Given the description of an element on the screen output the (x, y) to click on. 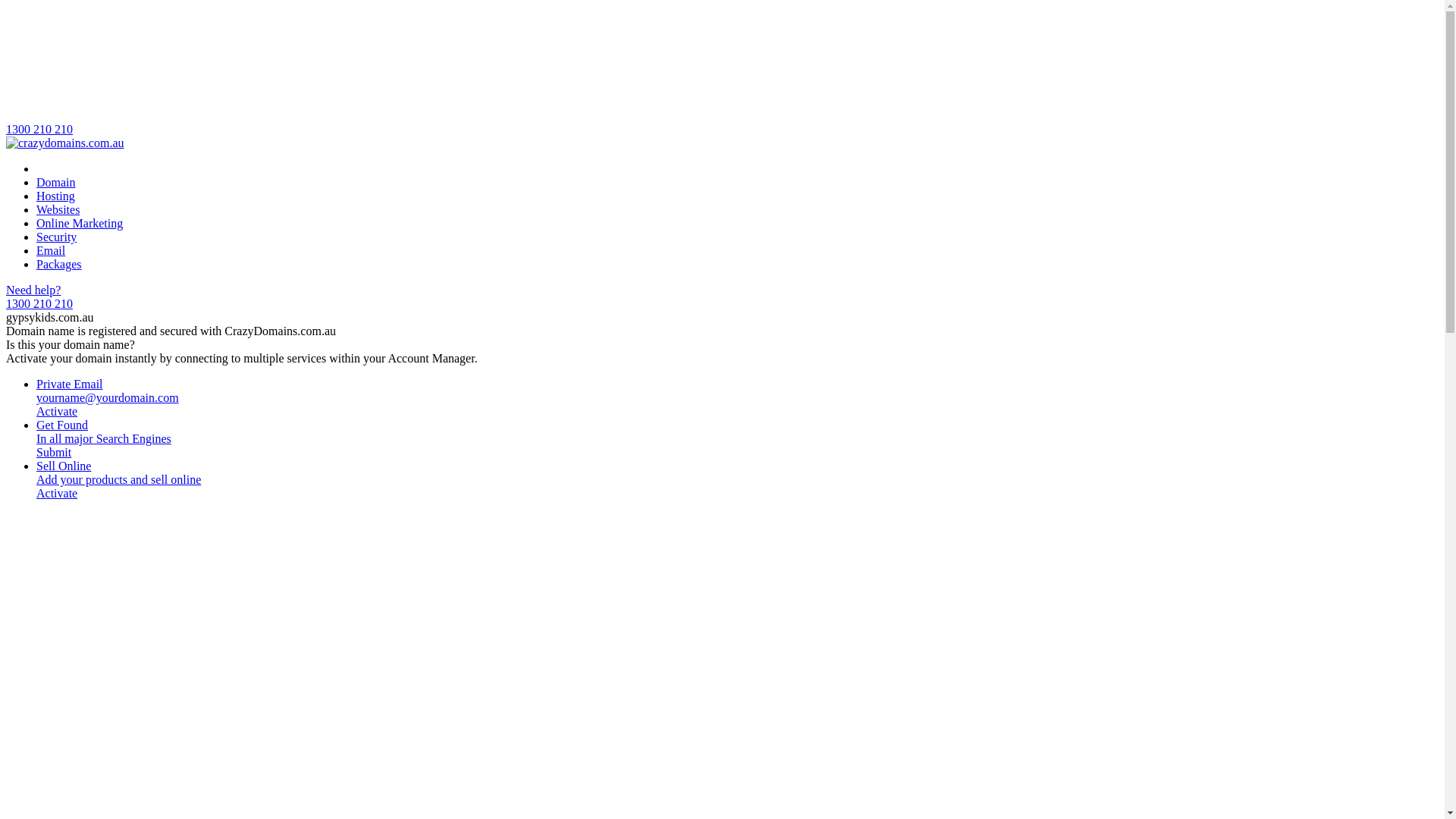
Websites Element type: text (57, 209)
Security Element type: text (56, 236)
Get Found
In all major Search Engines
Submit Element type: text (737, 438)
Sell Online
Add your products and sell online
Activate Element type: text (737, 479)
Need help?
1300 210 210 Element type: text (722, 296)
Private Email
yourname@yourdomain.com
Activate Element type: text (737, 397)
Hosting Element type: text (55, 195)
Online Marketing Element type: text (79, 222)
Email Element type: text (50, 250)
1300 210 210 Element type: text (722, 70)
Domain Element type: text (55, 181)
Packages Element type: text (58, 263)
